Given the description of an element on the screen output the (x, y) to click on. 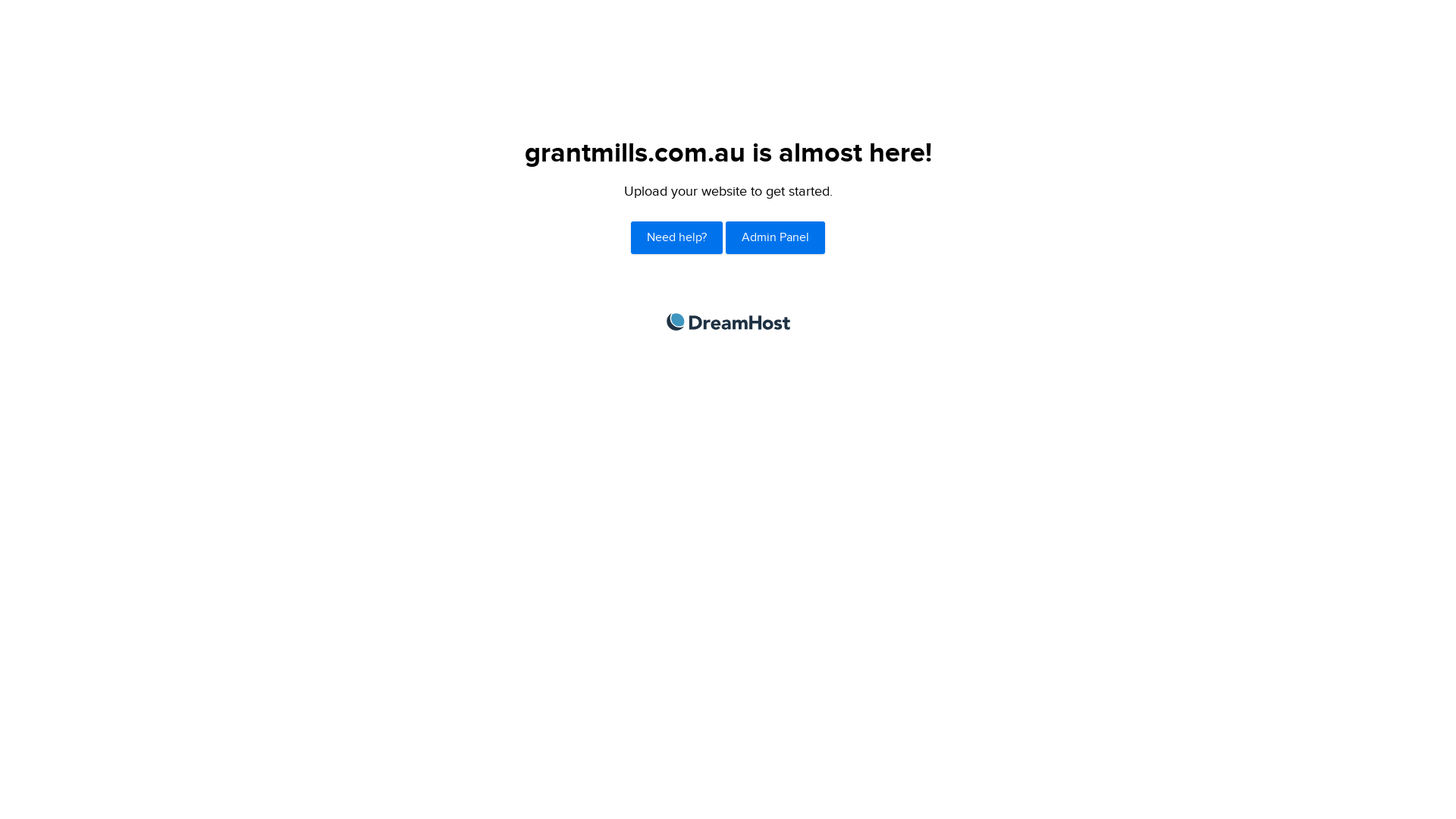
DreamHost Element type: text (727, 320)
Need help? Element type: text (676, 237)
Admin Panel Element type: text (775, 237)
